Given the description of an element on the screen output the (x, y) to click on. 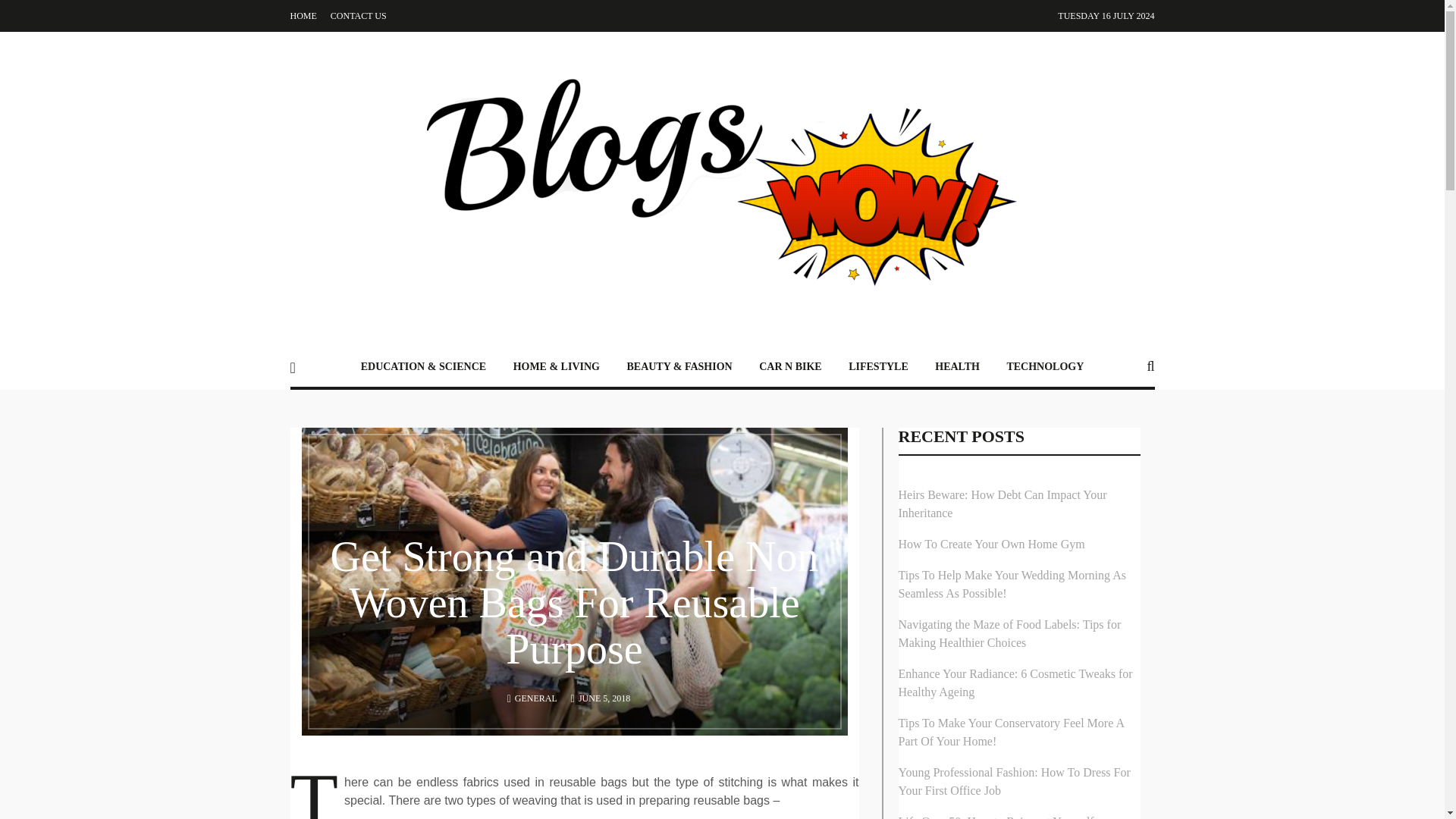
GENERAL (536, 697)
TECHNOLOGY (1045, 366)
HEALTH (957, 366)
CAR N BIKE (789, 366)
LIFESTYLE (877, 366)
HOME (302, 15)
CONTACT US (358, 15)
JUNE 5, 2018 (604, 697)
